Given the description of an element on the screen output the (x, y) to click on. 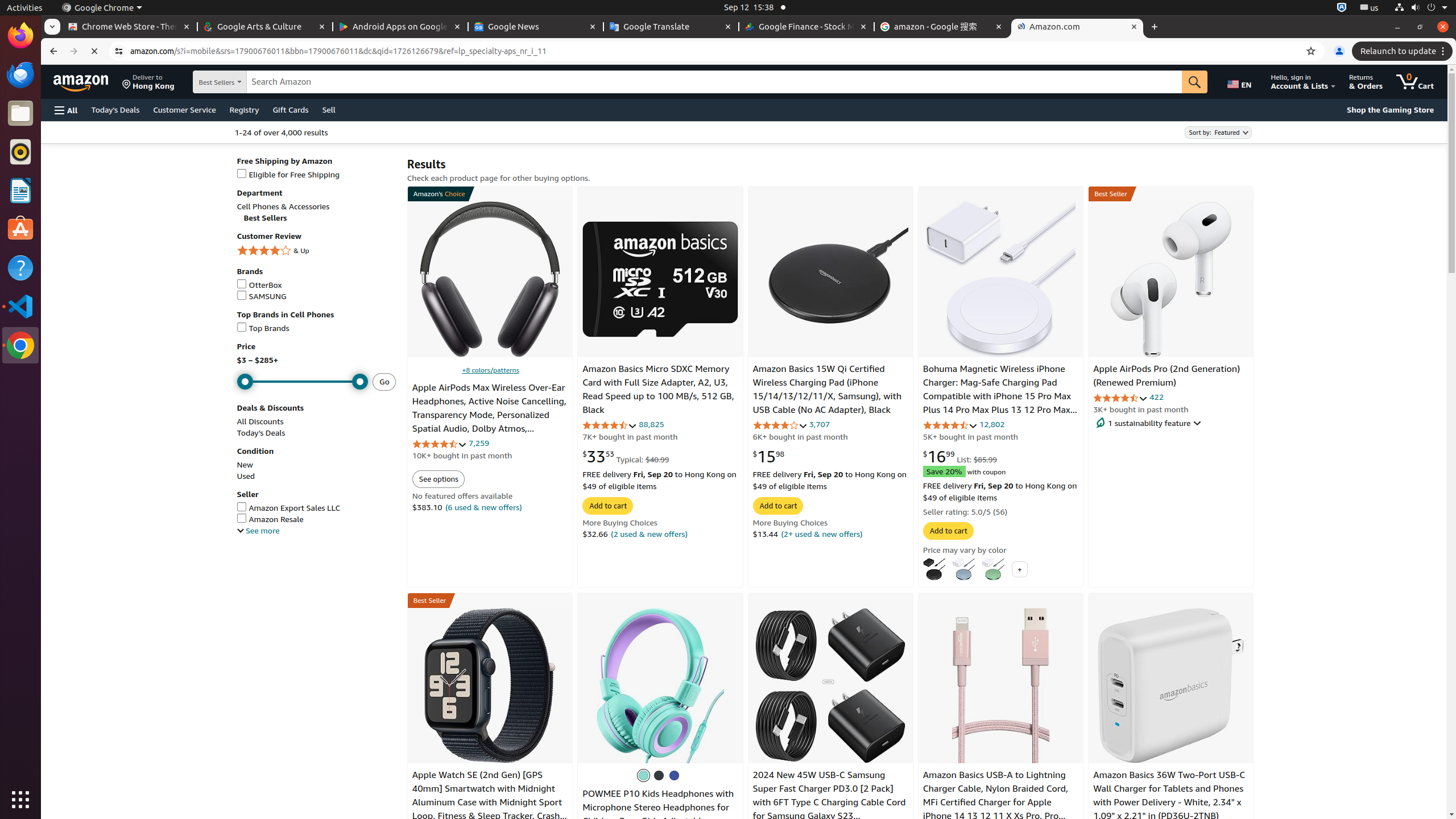
Google Chrome Element type: menu (101, 7)
4.3 out of 5 stars Element type: push-button (1120, 397)
4.7 out of 5 stars Element type: push-button (609, 425)
Top Brands Element type: list-item (315, 328)
Green Element type: link (992, 568)
